Given the description of an element on the screen output the (x, y) to click on. 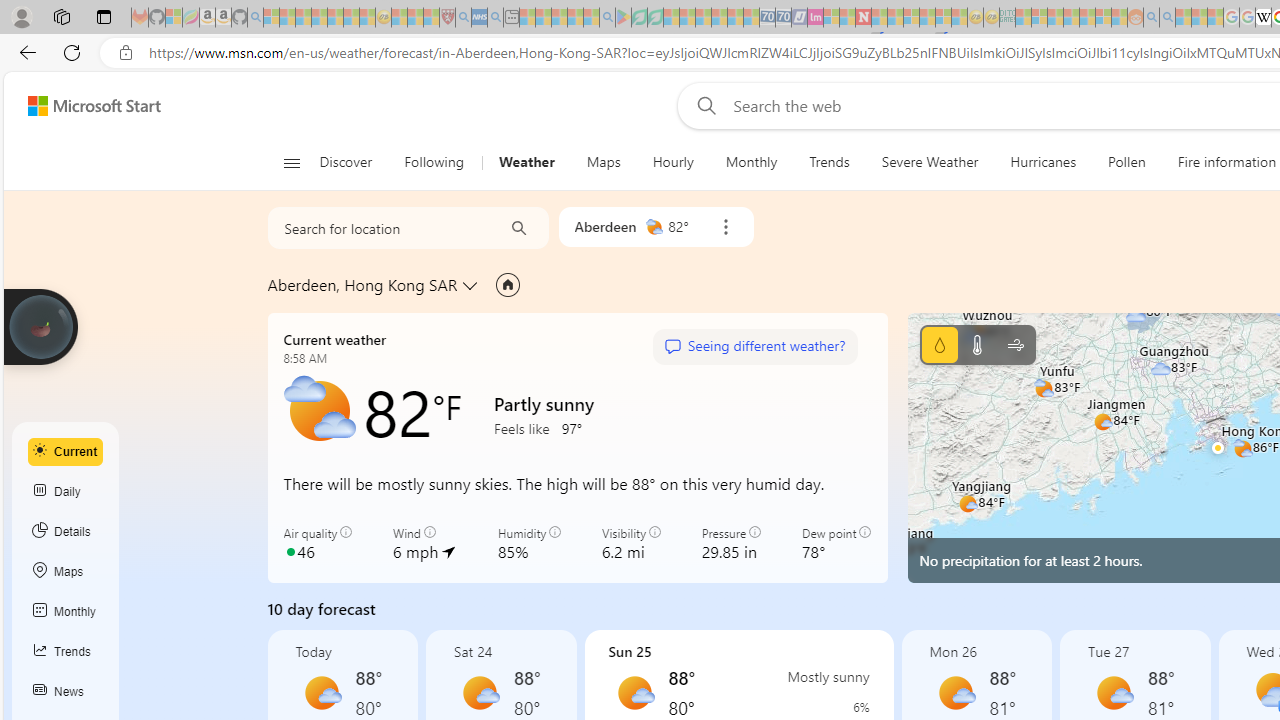
Details (65, 531)
Expert Portfolios - Sleeping (1071, 17)
Aberdeen, Hong Kong SAR (362, 284)
Pressure 29.85 in (731, 543)
Change location (472, 285)
Class: aqiColorCycle-DS-EntryPoint1-1 (290, 551)
